Given the description of an element on the screen output the (x, y) to click on. 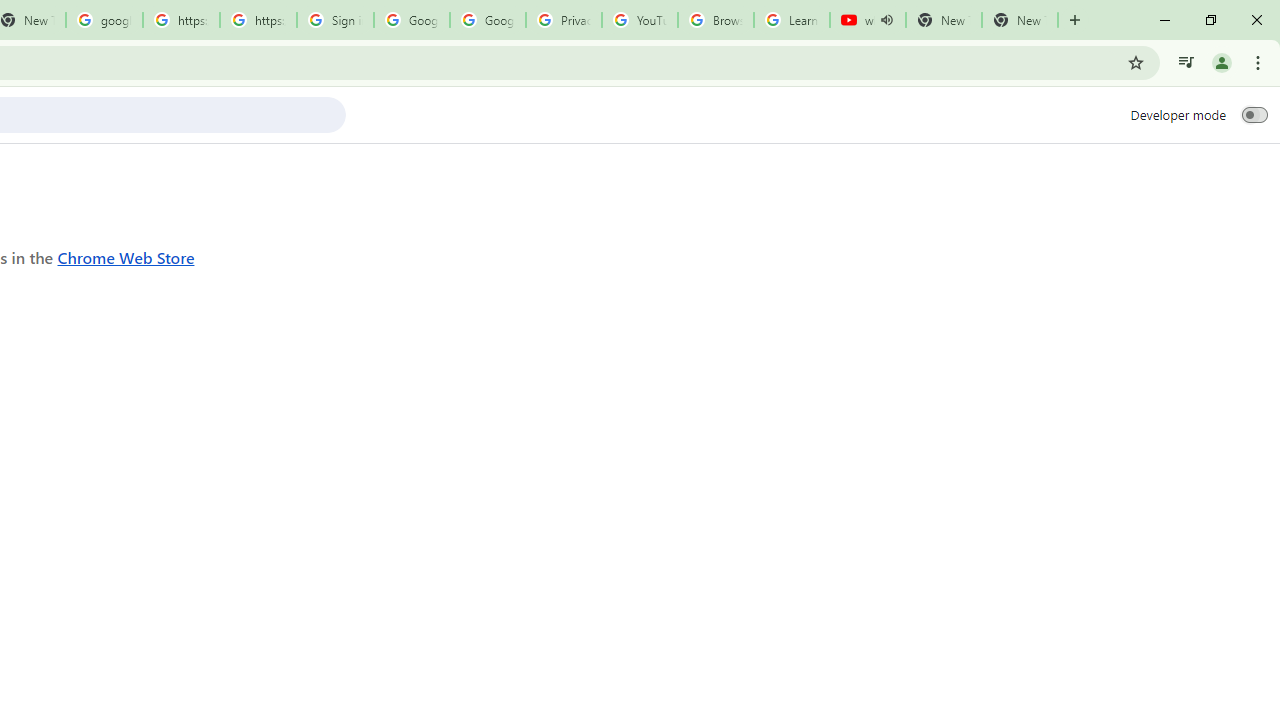
Mute tab (886, 20)
New Tab (1019, 20)
Developer mode (1254, 114)
